Given the description of an element on the screen output the (x, y) to click on. 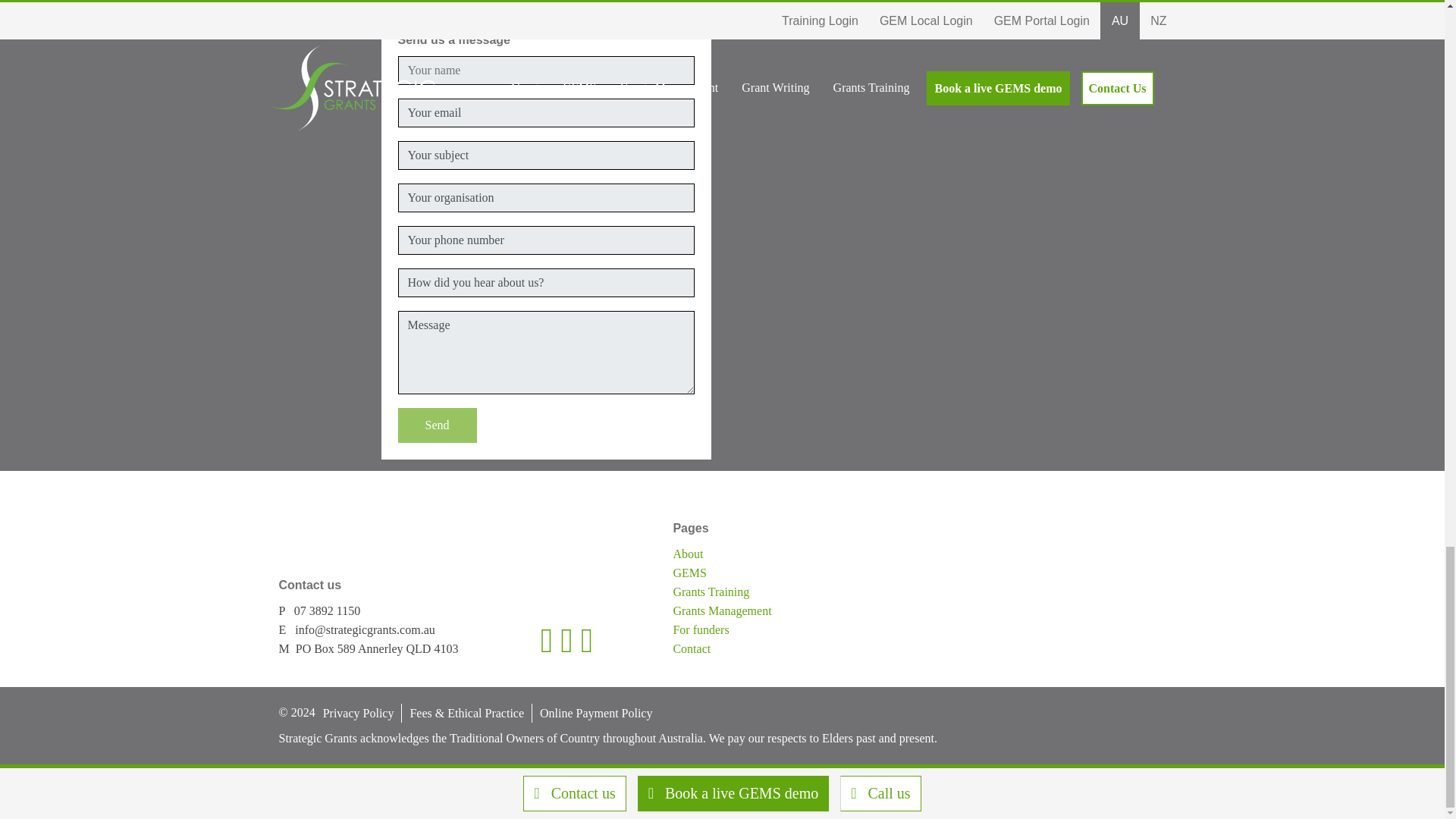
Your phone number (545, 240)
Send (436, 425)
How did you hear about us? (545, 282)
Your subject (545, 154)
Your email (545, 112)
Your organisation (545, 197)
